Given the description of an element on the screen output the (x, y) to click on. 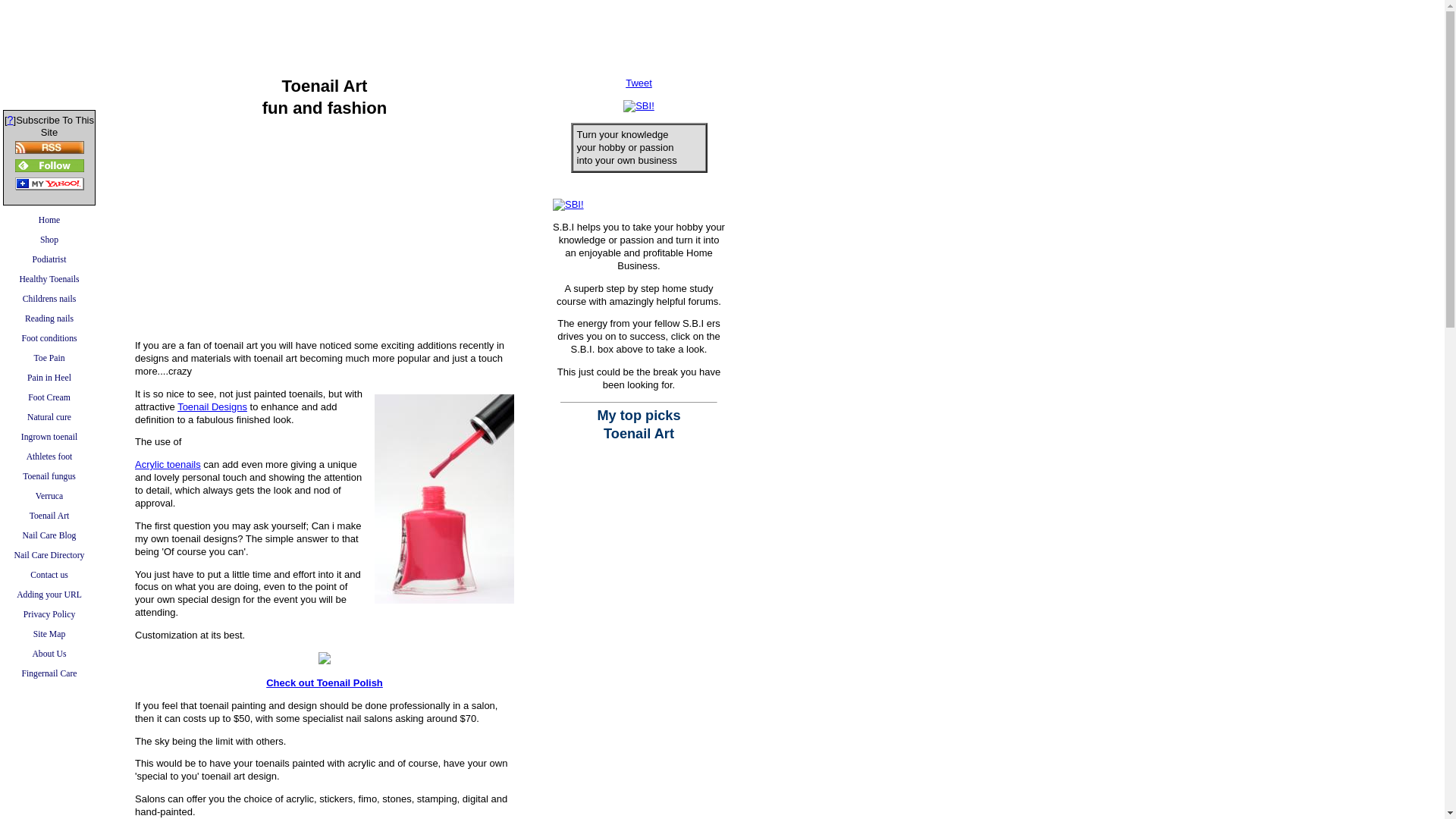
Toenail fungus (49, 476)
Home (49, 220)
Check out Toenail Polish (324, 682)
Reading nails (49, 319)
Healthy Toenails (49, 279)
Foot conditions (49, 338)
Pain in Heel (49, 378)
Athletes foot (49, 456)
Adding your URL (49, 595)
Toe Pain (49, 358)
